Given the description of an element on the screen output the (x, y) to click on. 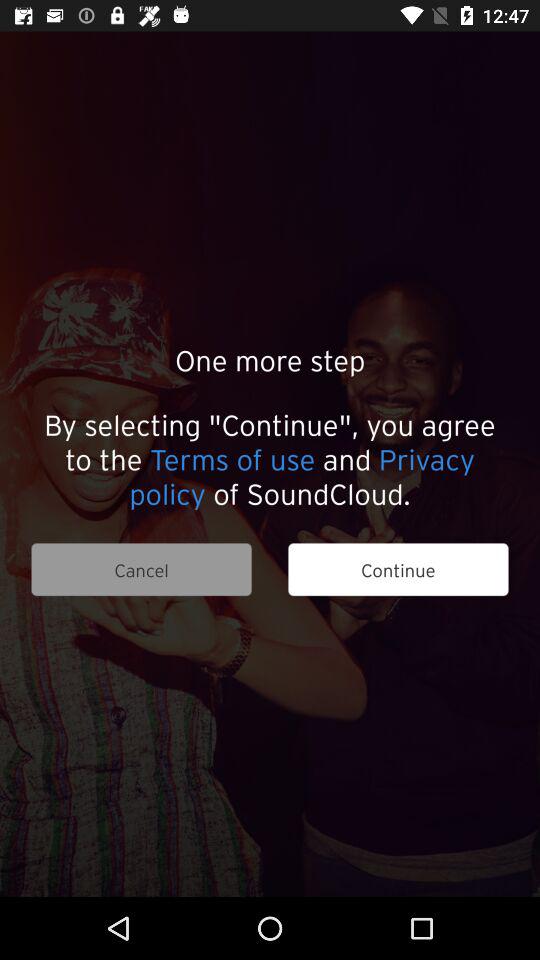
tap the item to the left of continue (141, 569)
